Given the description of an element on the screen output the (x, y) to click on. 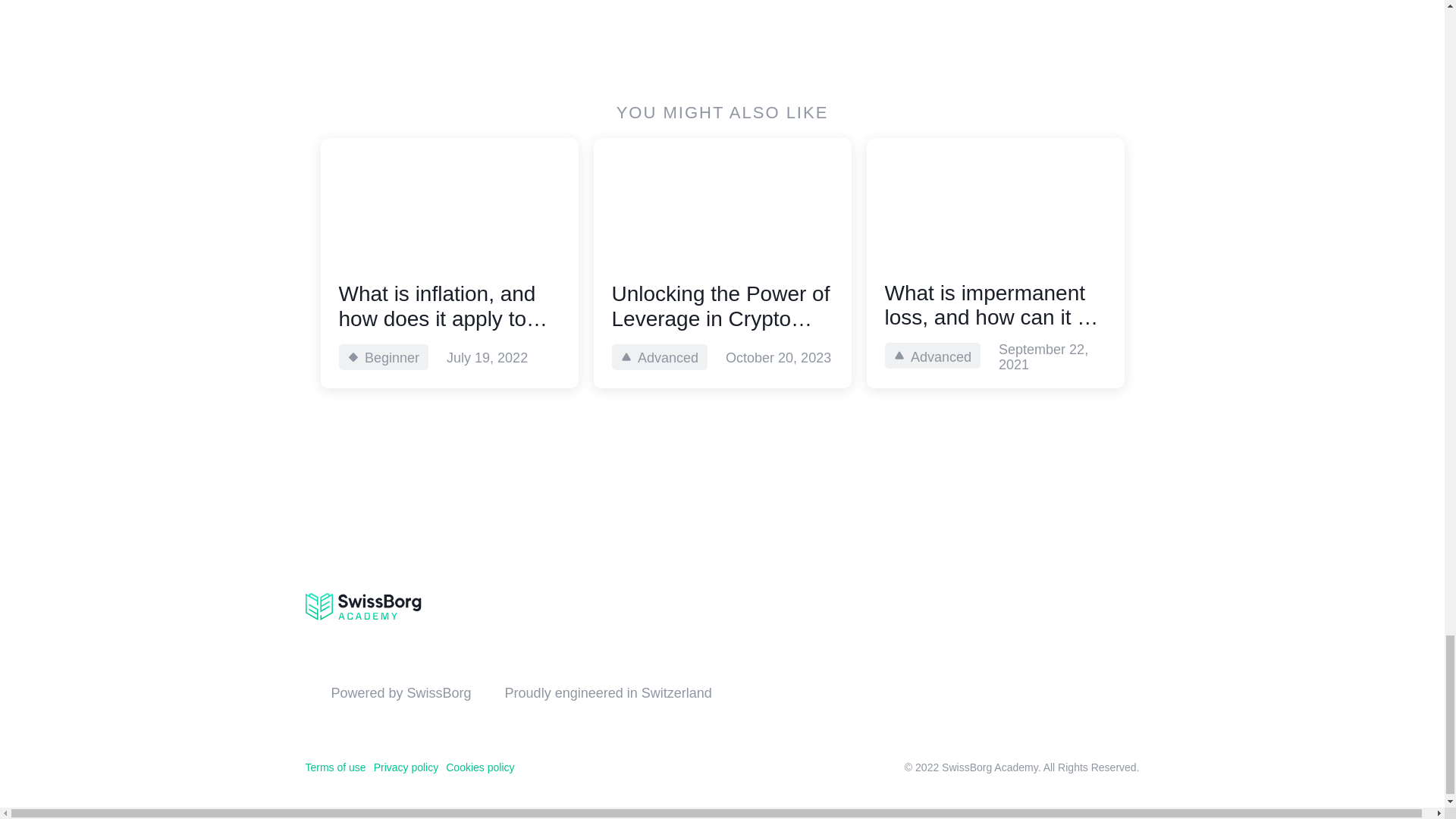
Privacy policy (406, 767)
Powered by SwissBorg (400, 692)
Terms of use (334, 767)
Cookies policy (479, 767)
